Given the description of an element on the screen output the (x, y) to click on. 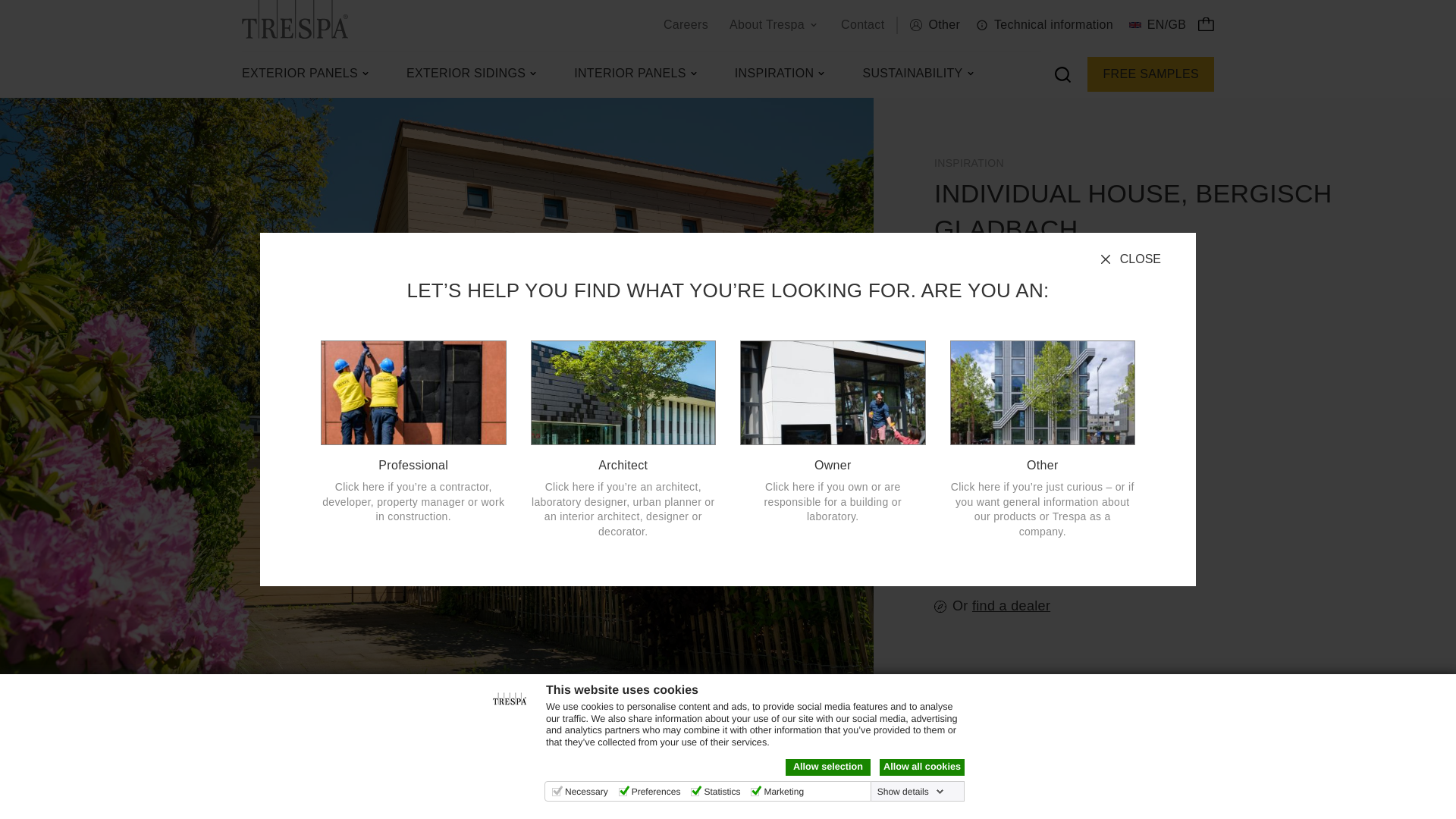
Allow selection (828, 767)
Allow all cookies (921, 767)
Show details (911, 791)
